Given the description of an element on the screen output the (x, y) to click on. 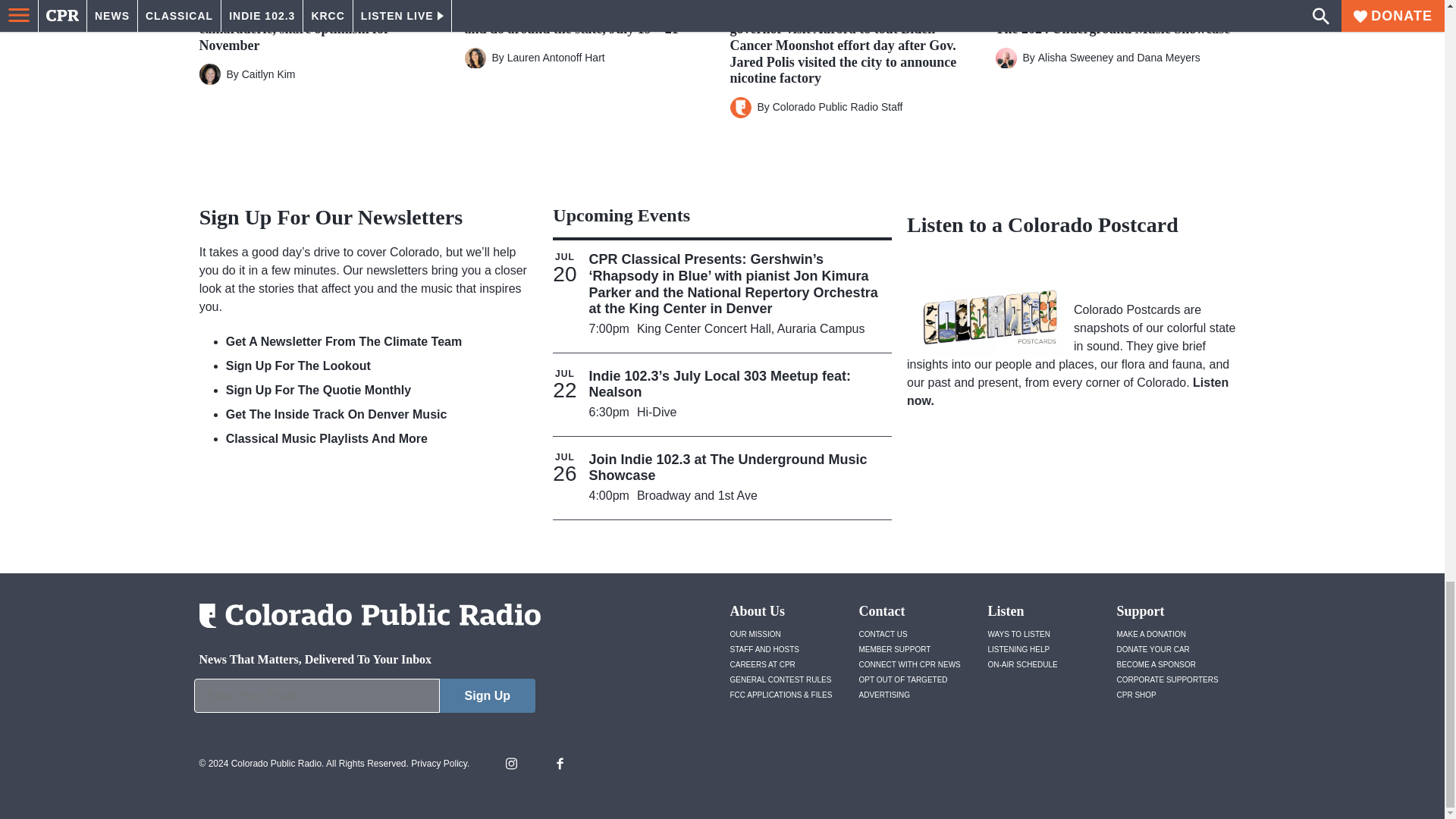
footer (364, 699)
